Given the description of an element on the screen output the (x, y) to click on. 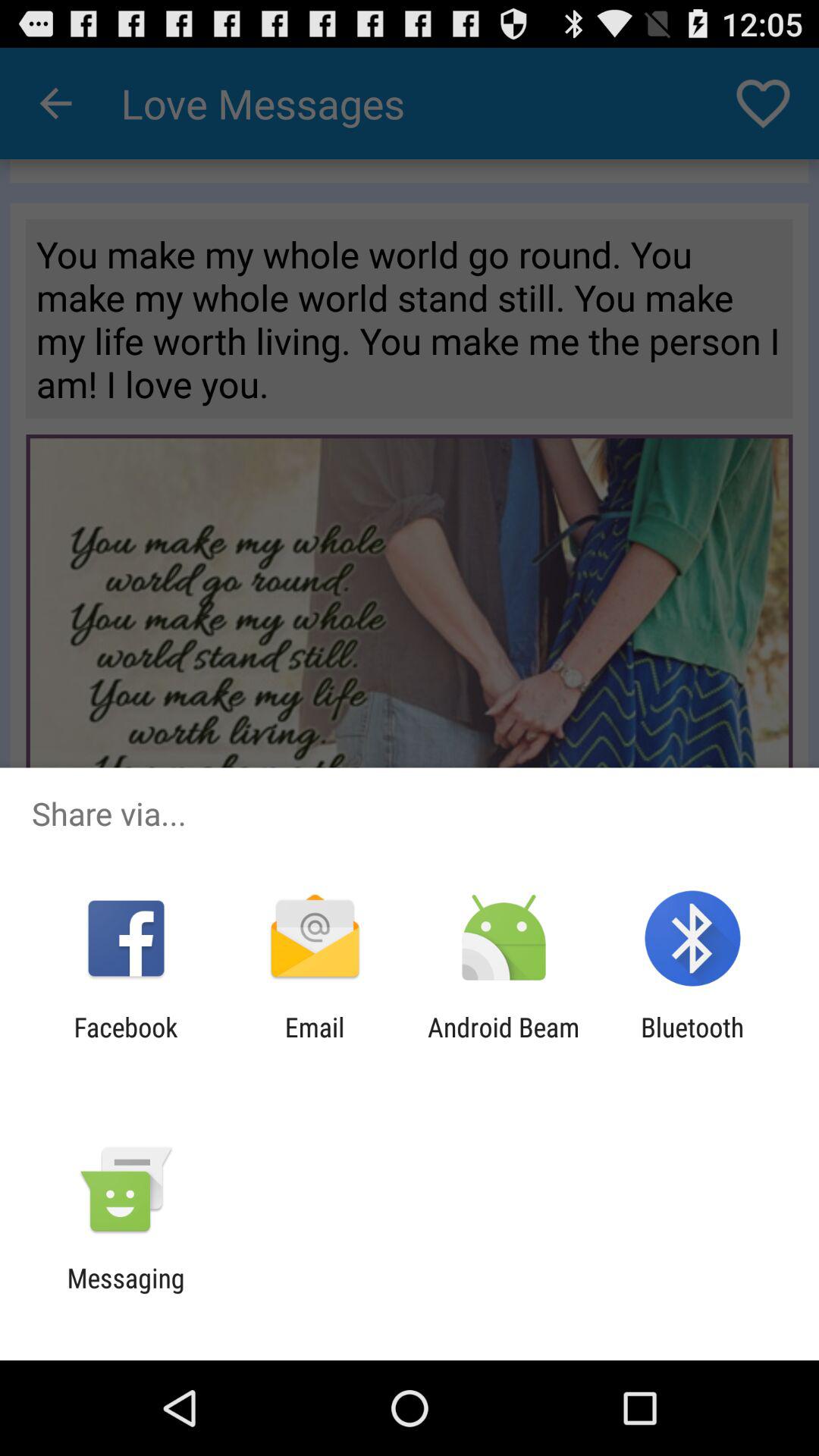
scroll until bluetooth (691, 1042)
